Given the description of an element on the screen output the (x, y) to click on. 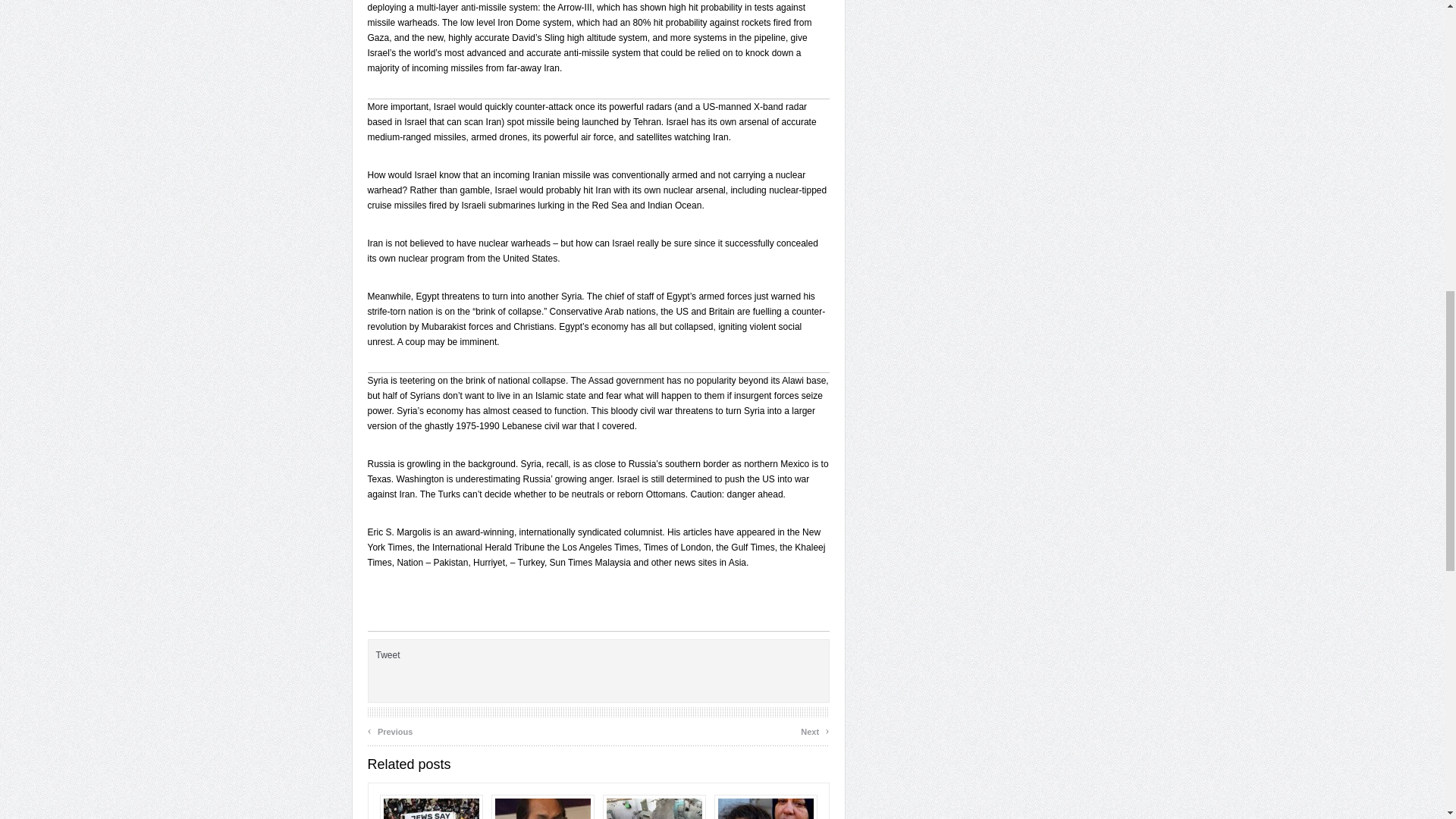
IK Speaks with a Forked Tongue (543, 806)
Tweet (387, 655)
